Given the description of an element on the screen output the (x, y) to click on. 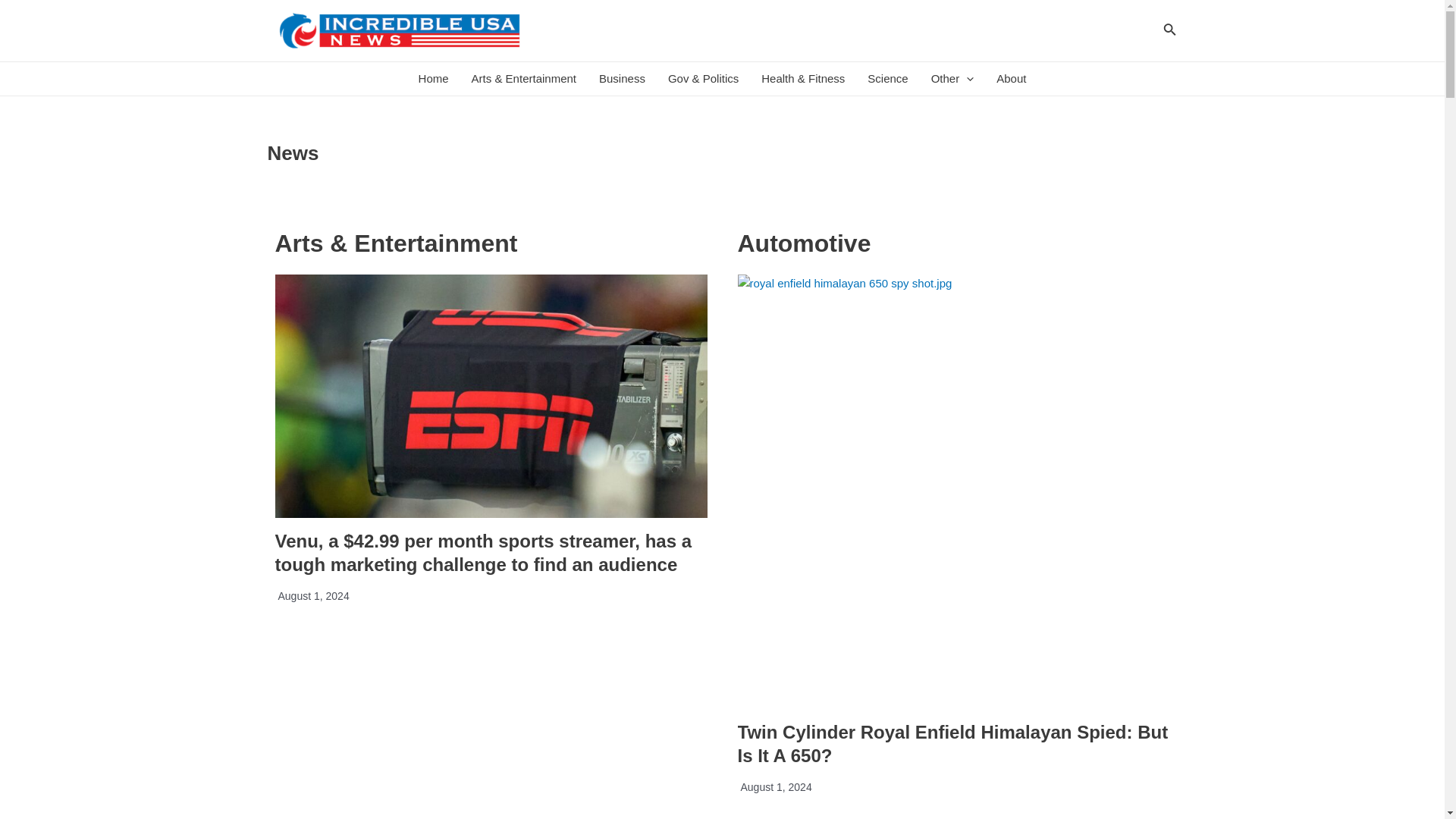
About (1010, 78)
Other (952, 78)
Science (887, 78)
Business (622, 78)
Home (433, 78)
